Given the description of an element on the screen output the (x, y) to click on. 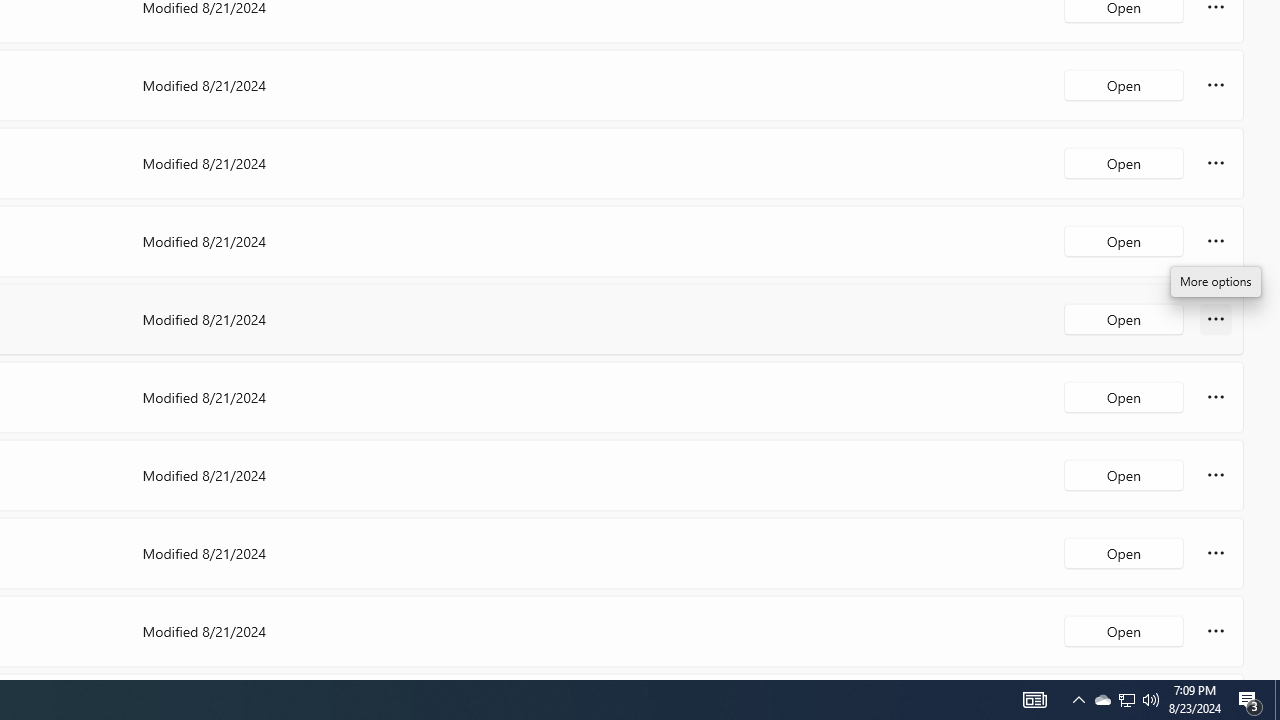
More options (1215, 630)
Open (1123, 630)
